Given the description of an element on the screen output the (x, y) to click on. 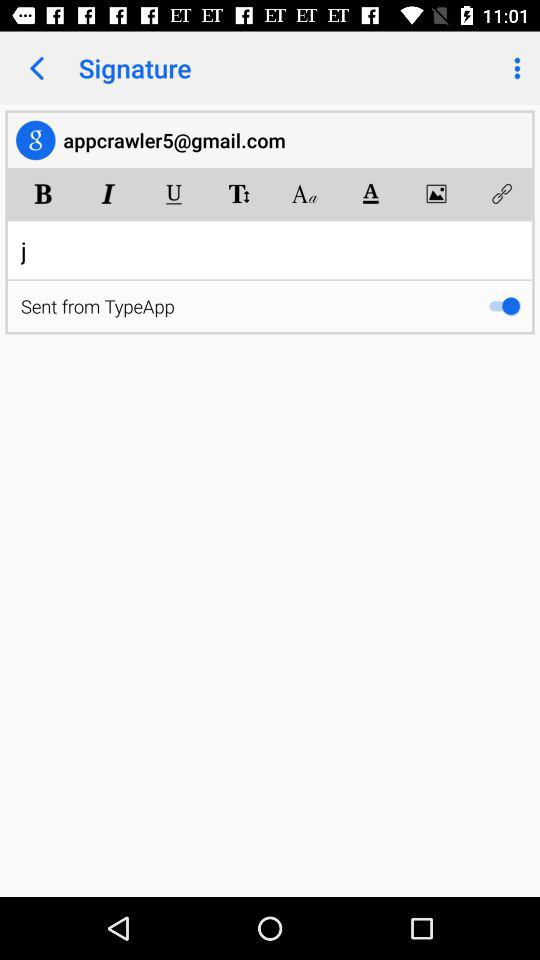
press the item below j item (504, 305)
